Given the description of an element on the screen output the (x, y) to click on. 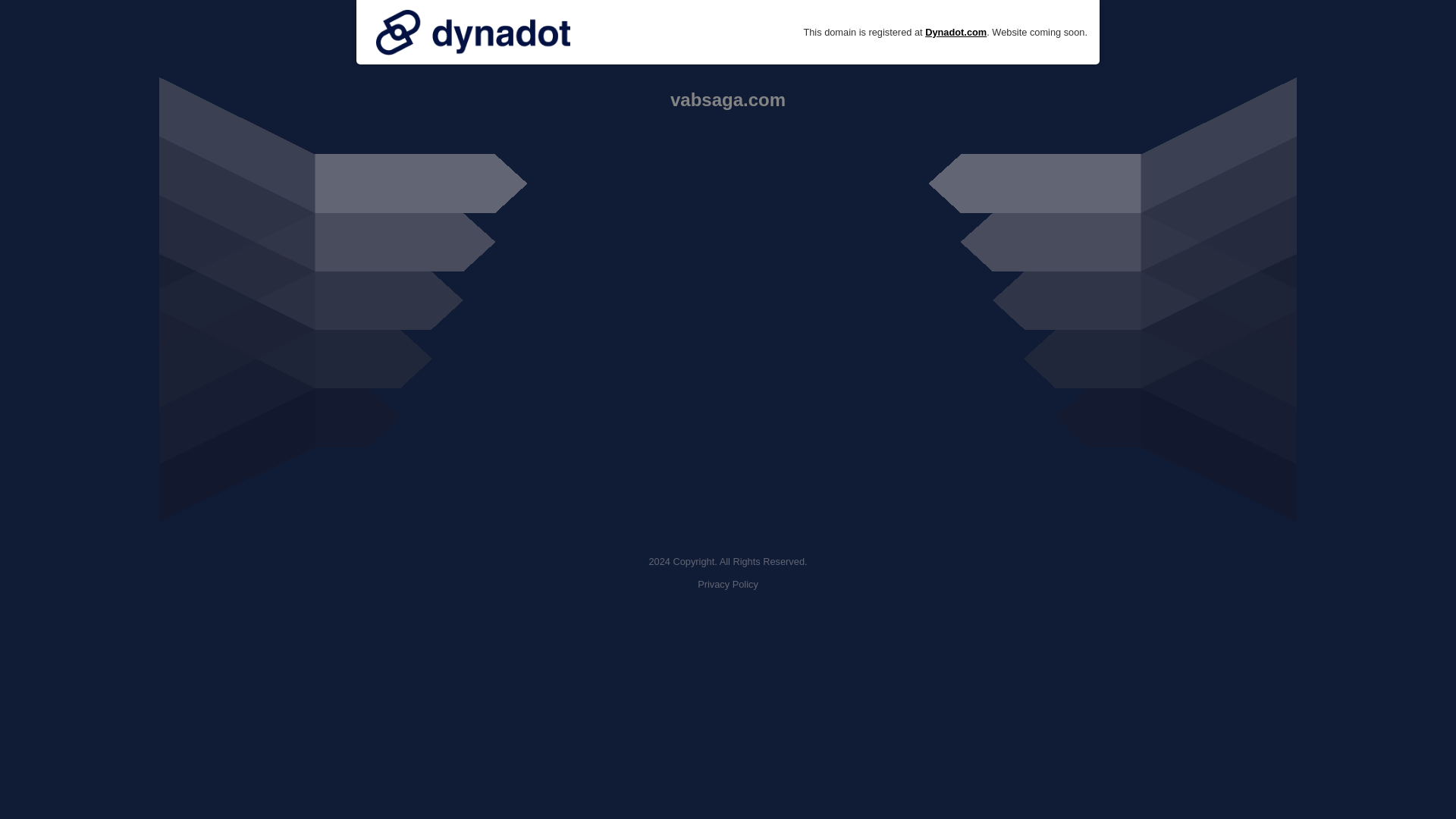
Dynadot.com (955, 31)
Privacy Policy (727, 583)
Domain managed at Dynadot.com (473, 31)
